Given the description of an element on the screen output the (x, y) to click on. 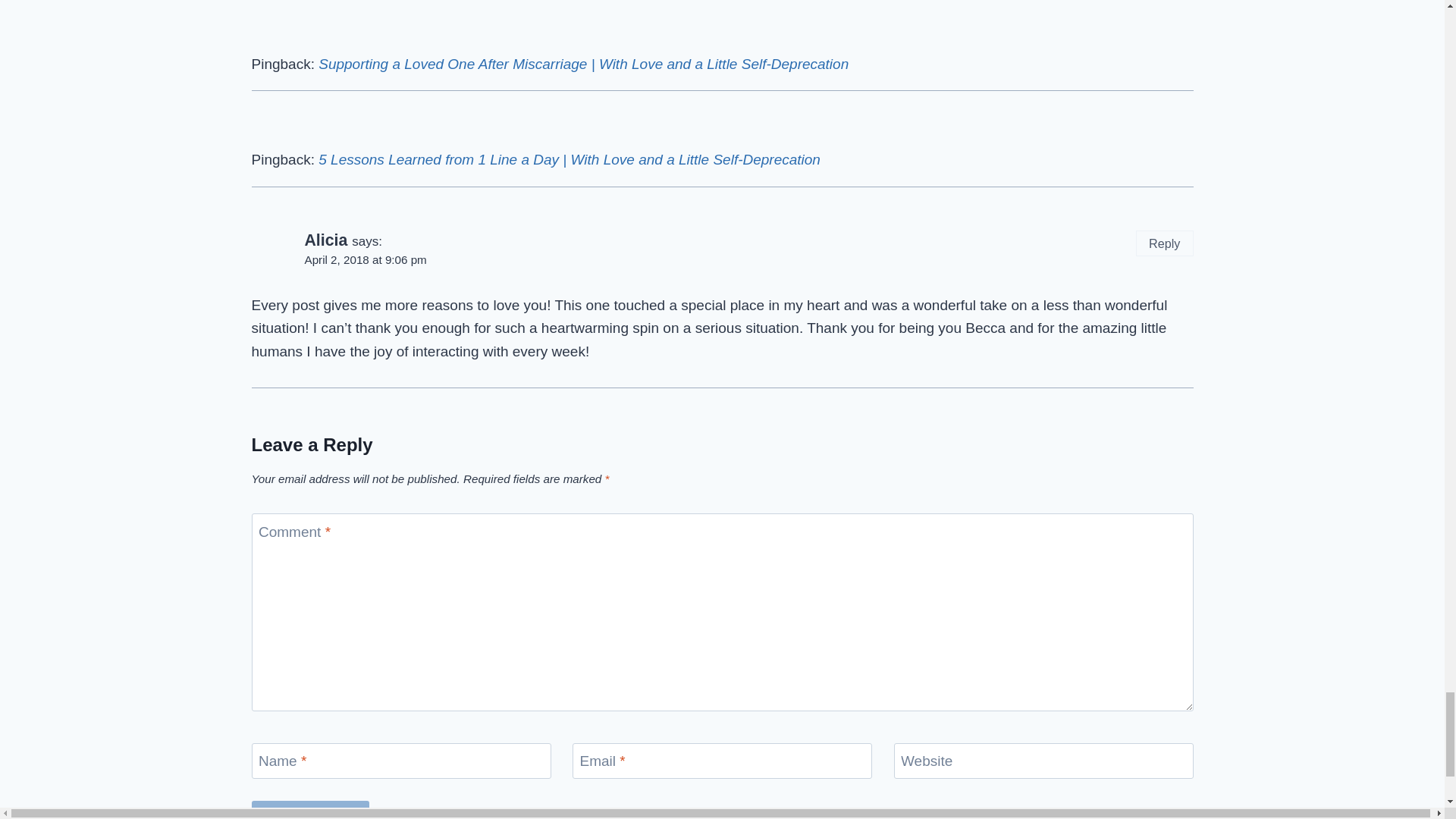
Post Comment (310, 809)
